Given the description of an element on the screen output the (x, y) to click on. 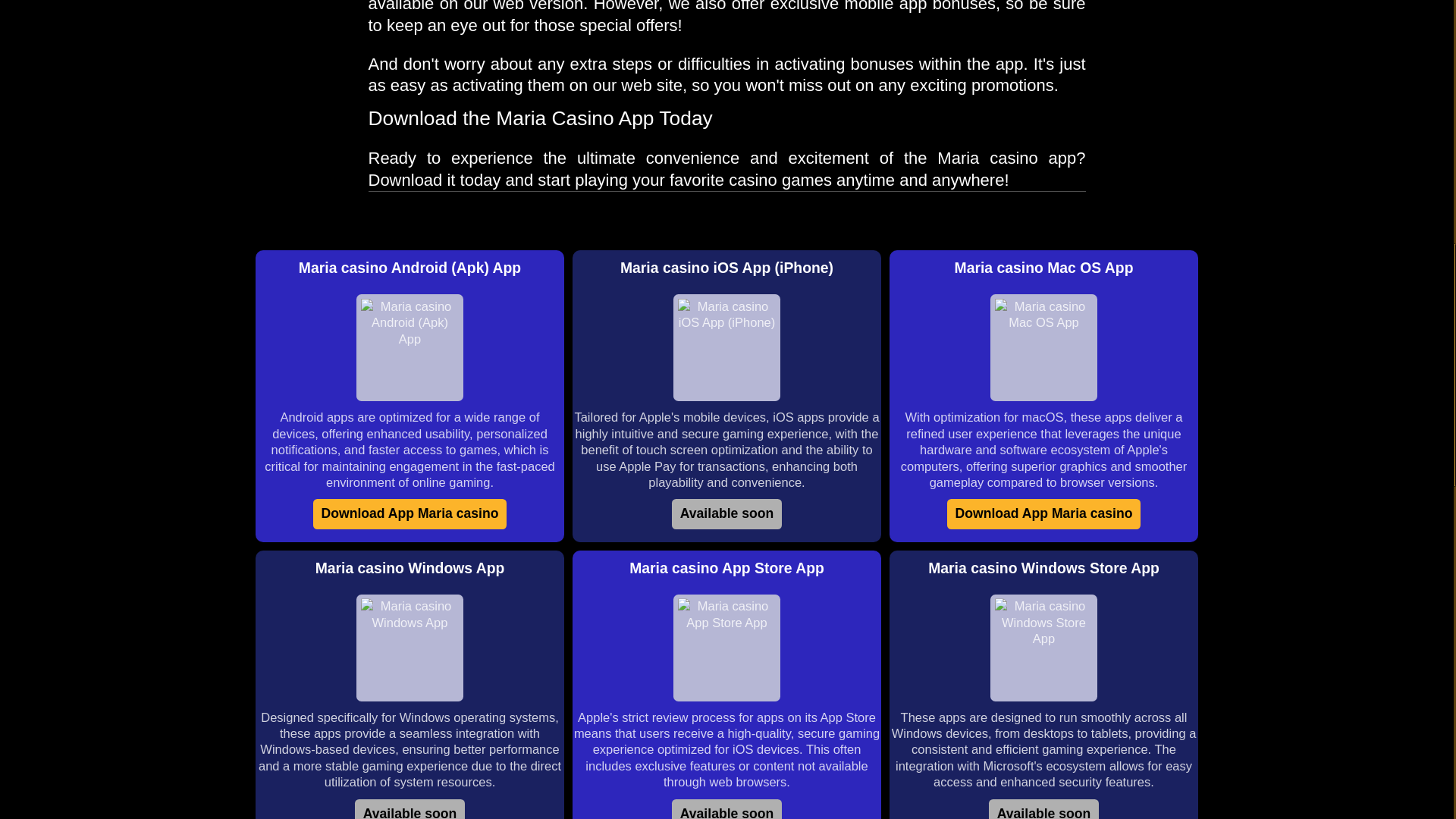
Download App Maria casino (1044, 513)
Download App Maria casino (409, 513)
